Given the description of an element on the screen output the (x, y) to click on. 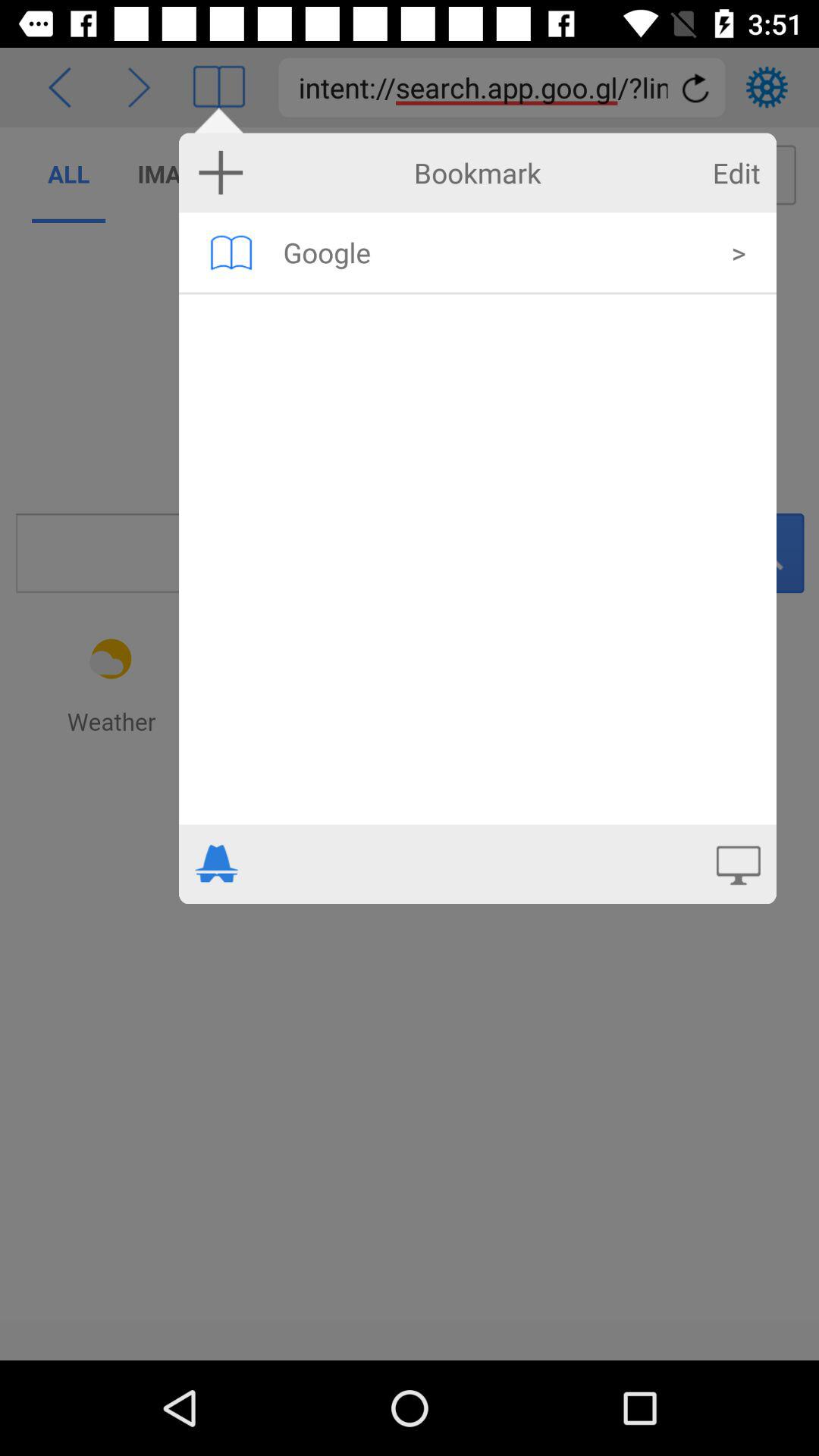
add bookmark (220, 172)
